Given the description of an element on the screen output the (x, y) to click on. 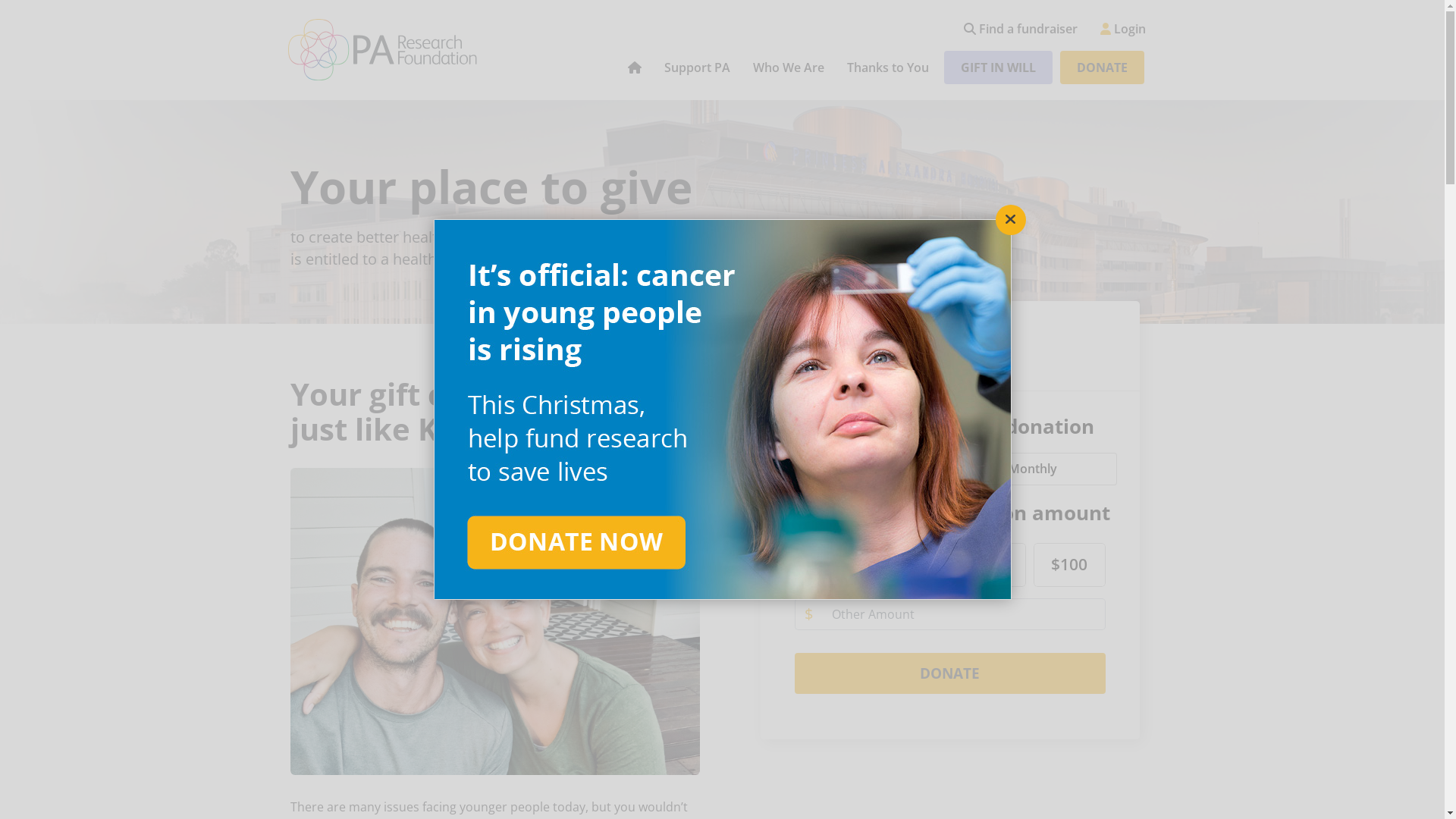
DONATE Element type: text (1102, 67)
DONATE Element type: text (949, 672)
Thanks to You Element type: text (887, 67)
Support PA Element type: text (696, 67)
Login Element type: text (1122, 28)
GIFT IN WILL Element type: text (997, 67)
Find a fundraiser Element type: text (1020, 28)
Who We Are Element type: text (788, 67)
